Given the description of an element on the screen output the (x, y) to click on. 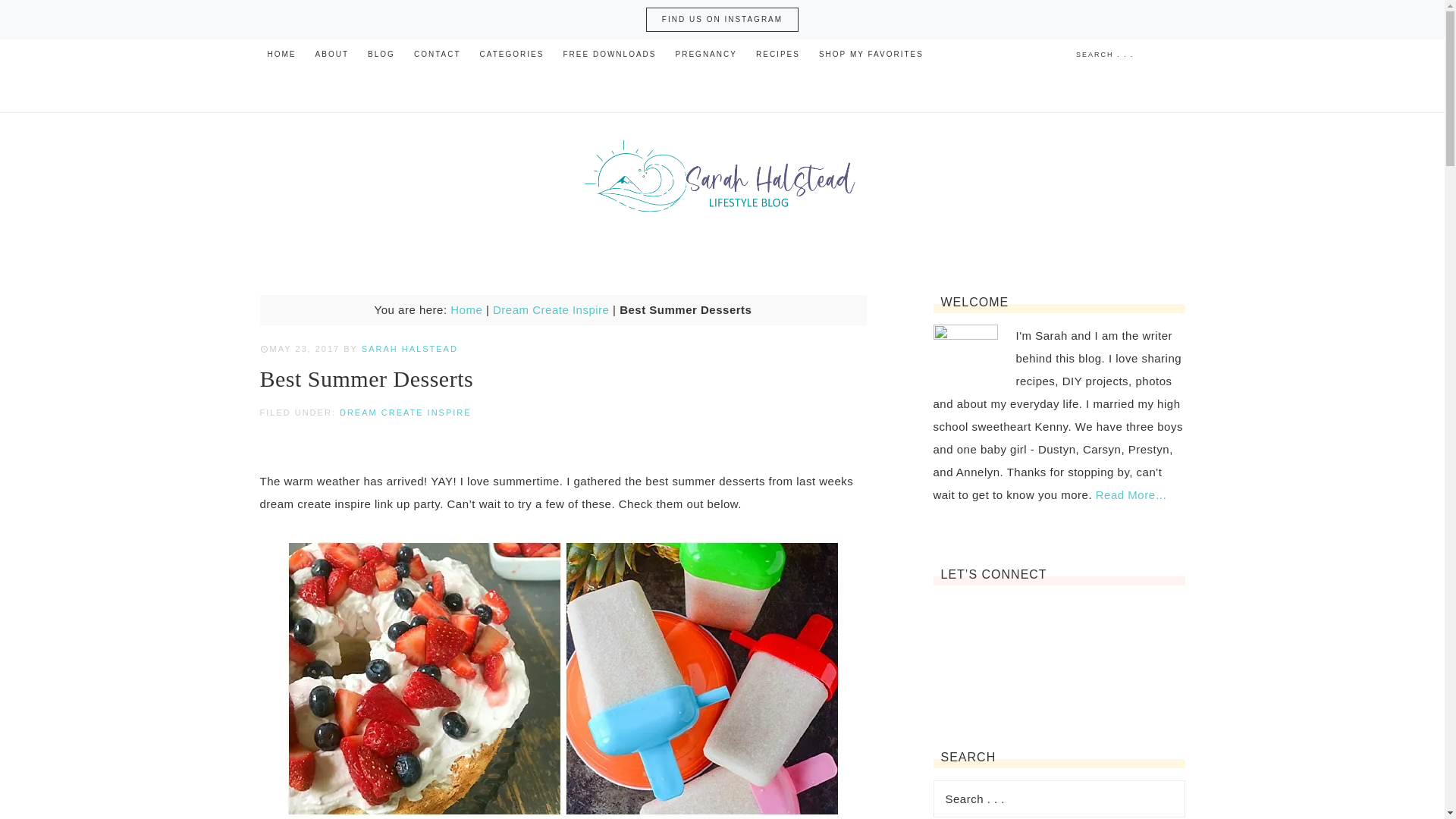
CATEGORIES (511, 54)
CONTACT (437, 54)
FREE DOWNLOADS (608, 54)
ABOUT (331, 54)
PREGNANCY (706, 54)
BLOG (381, 54)
FIND US ON INSTAGRAM (721, 19)
RECIPES (778, 54)
HOME (280, 54)
